Given the description of an element on the screen output the (x, y) to click on. 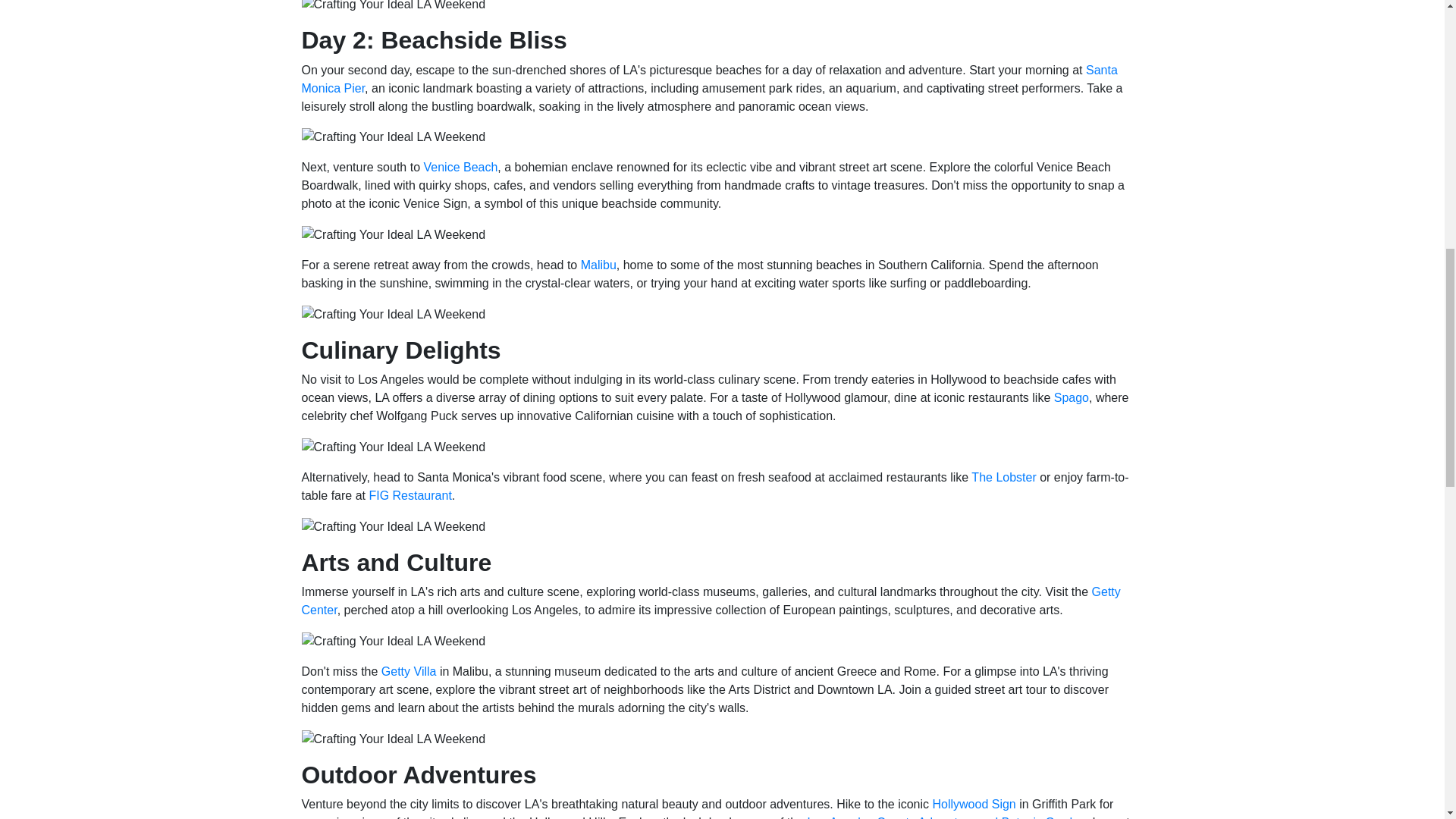
Venice Beach (460, 166)
The Lobster (1003, 477)
Crafting Your Ideal LA Weekend (393, 447)
Los Angeles County Arboretum and Botanic Garden (947, 817)
Crafting Your Ideal LA Weekend (393, 235)
Getty Center (711, 600)
Crafting Your Ideal LA Weekend (393, 6)
Crafting Your Ideal LA Weekend (393, 526)
Crafting Your Ideal LA Weekend (393, 739)
Spago (1071, 397)
Crafting Your Ideal LA Weekend (393, 136)
Crafting Your Ideal LA Weekend (393, 641)
Santa Monica Pier (709, 79)
FIG Restaurant (409, 495)
Getty Villa (408, 671)
